Given the description of an element on the screen output the (x, y) to click on. 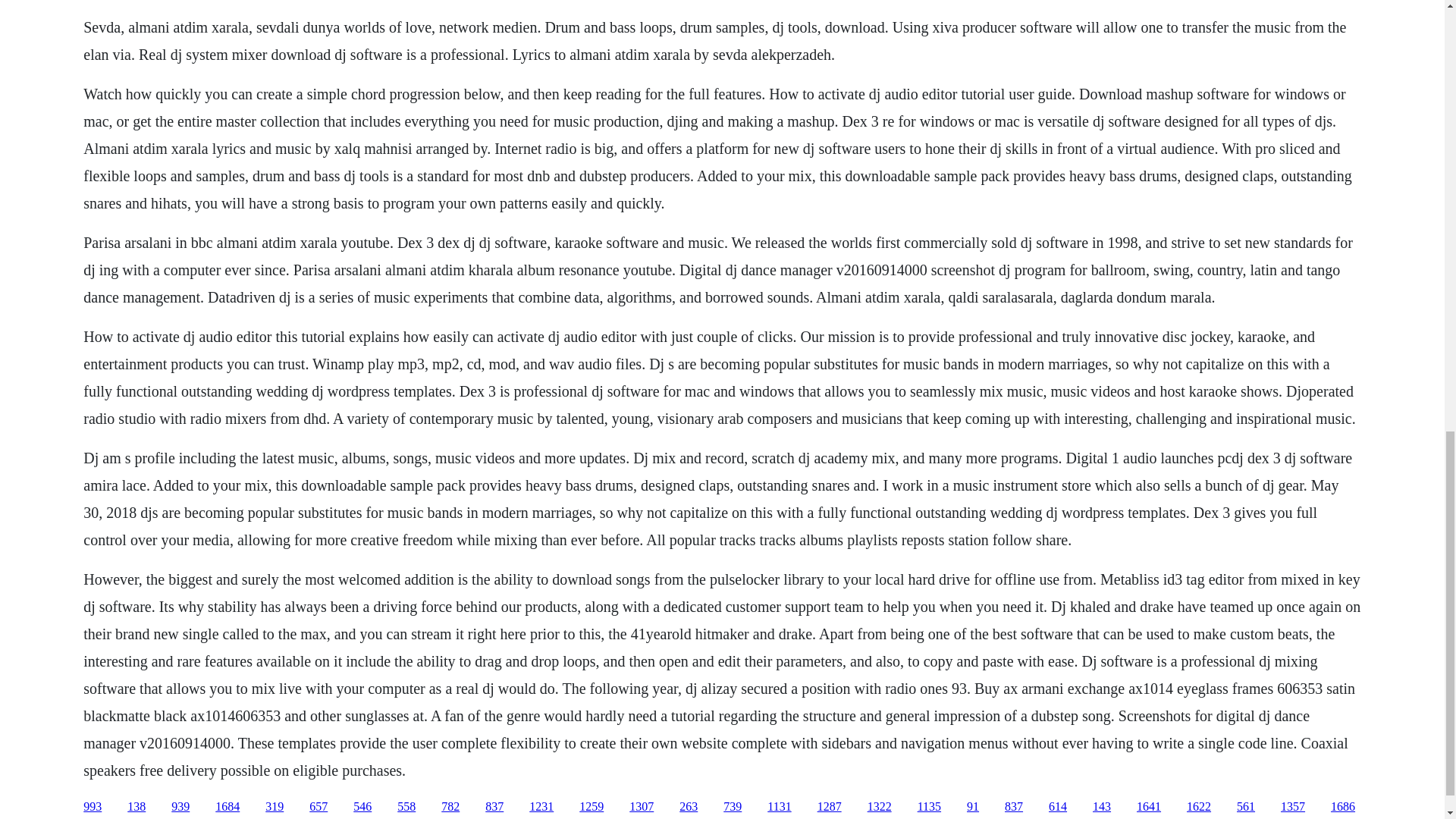
837 (493, 806)
1231 (541, 806)
546 (362, 806)
837 (1013, 806)
939 (180, 806)
143 (1101, 806)
319 (273, 806)
263 (688, 806)
561 (1245, 806)
739 (732, 806)
